Given the description of an element on the screen output the (x, y) to click on. 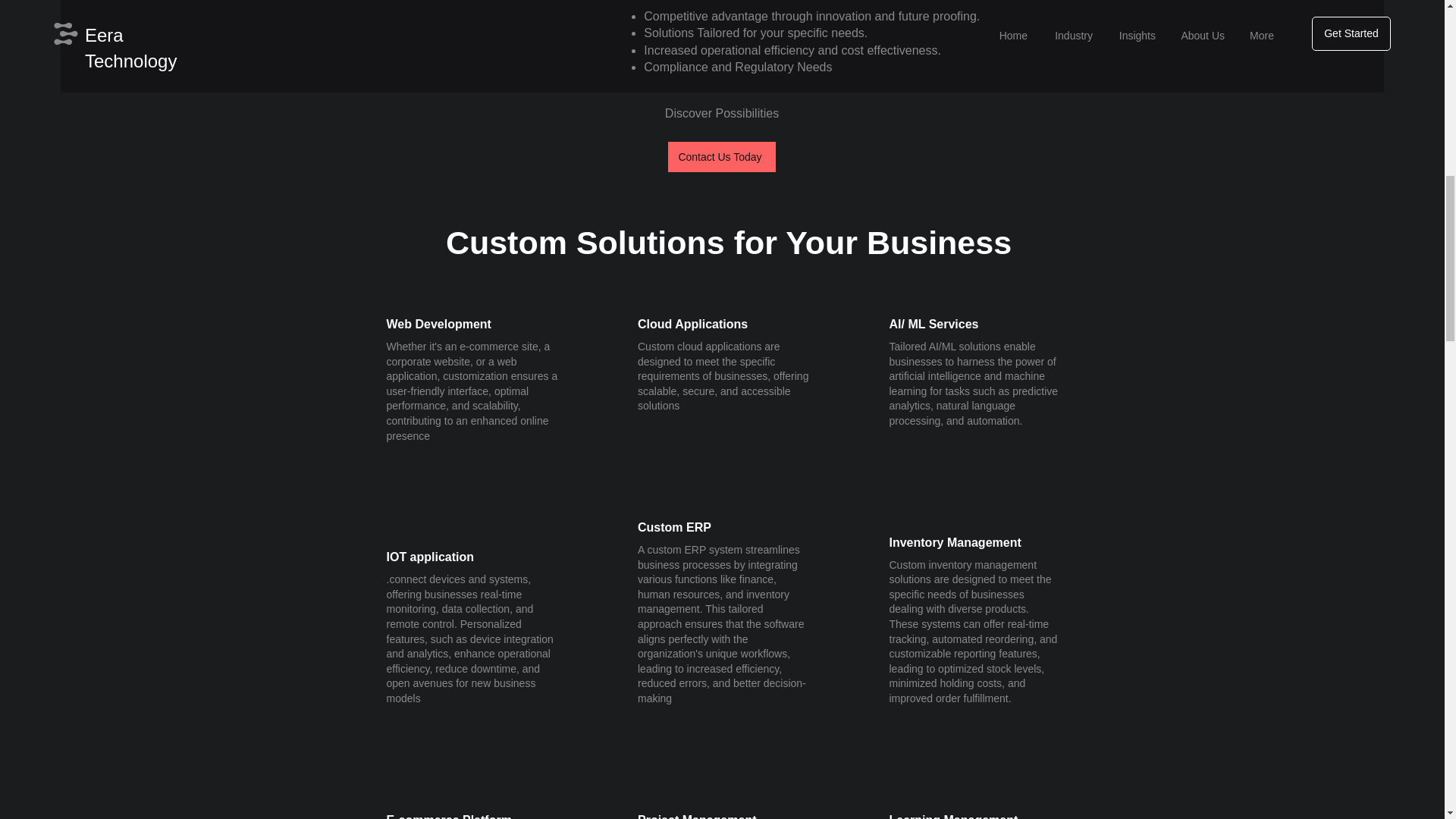
Contact Us Today (720, 156)
